Given the description of an element on the screen output the (x, y) to click on. 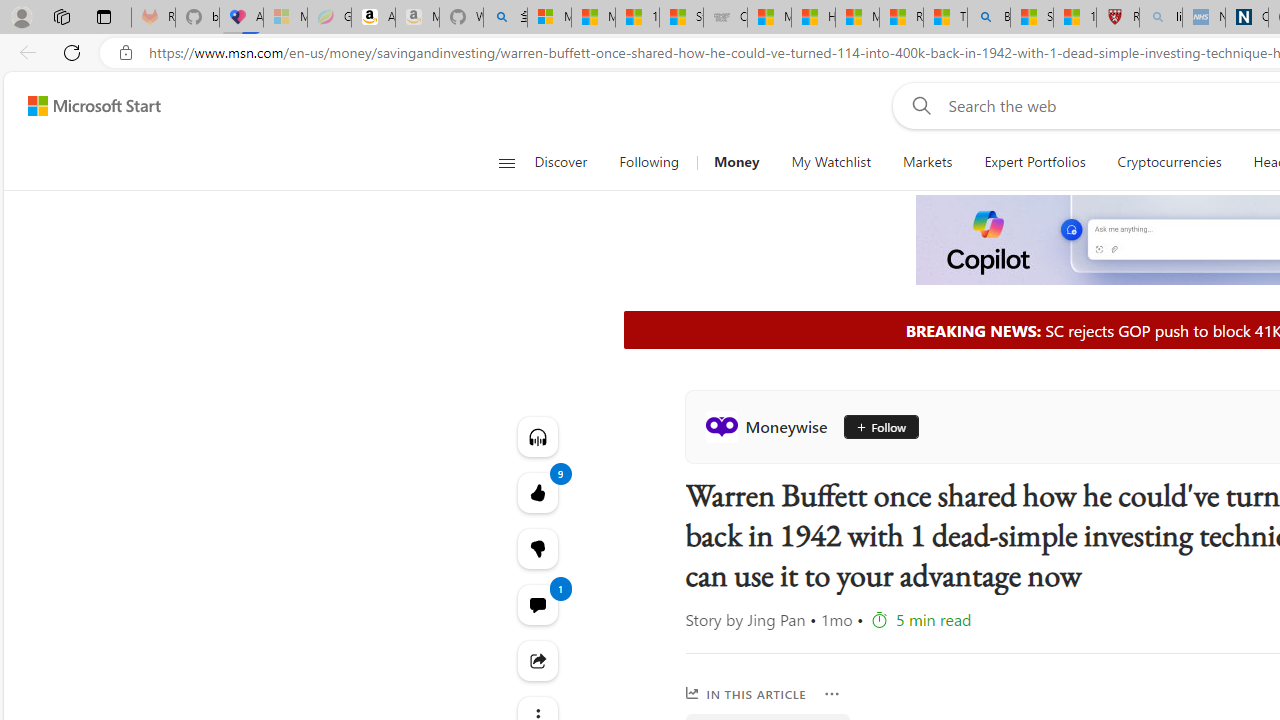
More Options (832, 694)
Expert Portfolios (1034, 162)
Markets (927, 162)
